Given the description of an element on the screen output the (x, y) to click on. 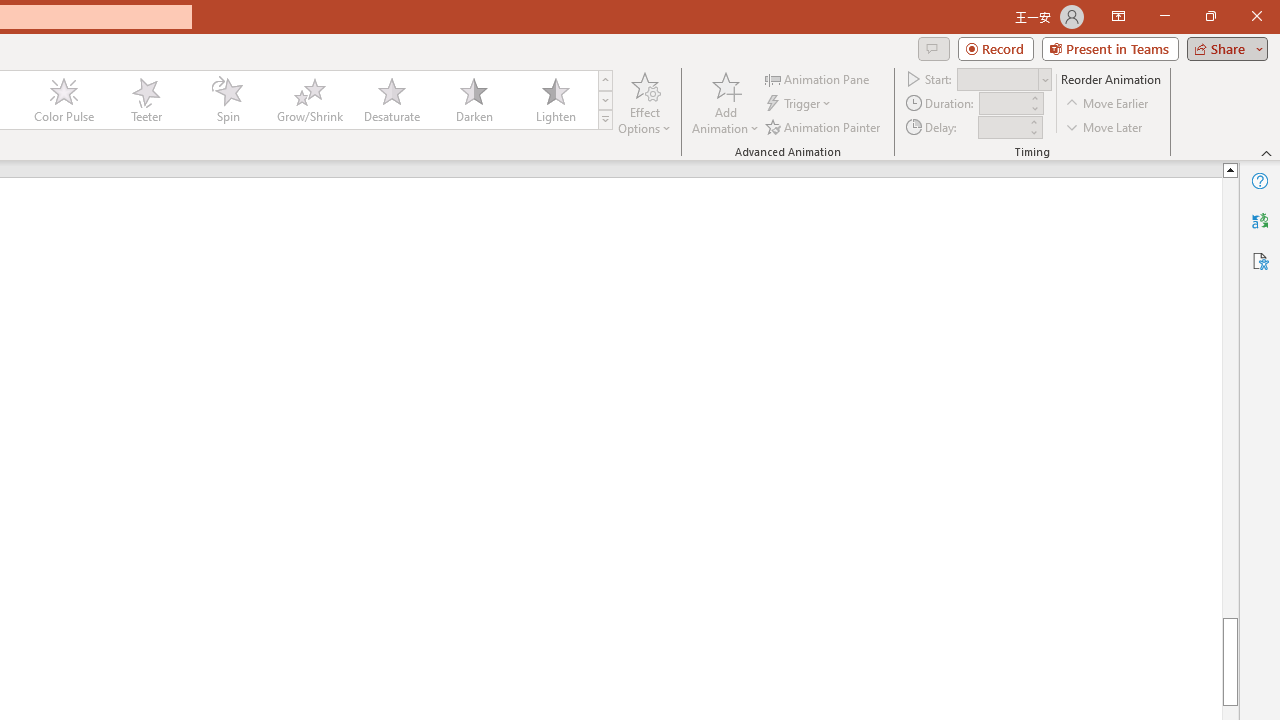
Grow/Shrink (309, 100)
Spin (227, 100)
Move Later (1105, 126)
Animation Pane (818, 78)
Row Down (605, 100)
Animation Duration (1003, 103)
Open (1044, 79)
Lighten (555, 100)
Color Pulse (63, 100)
Darken (473, 100)
